Given the description of an element on the screen output the (x, y) to click on. 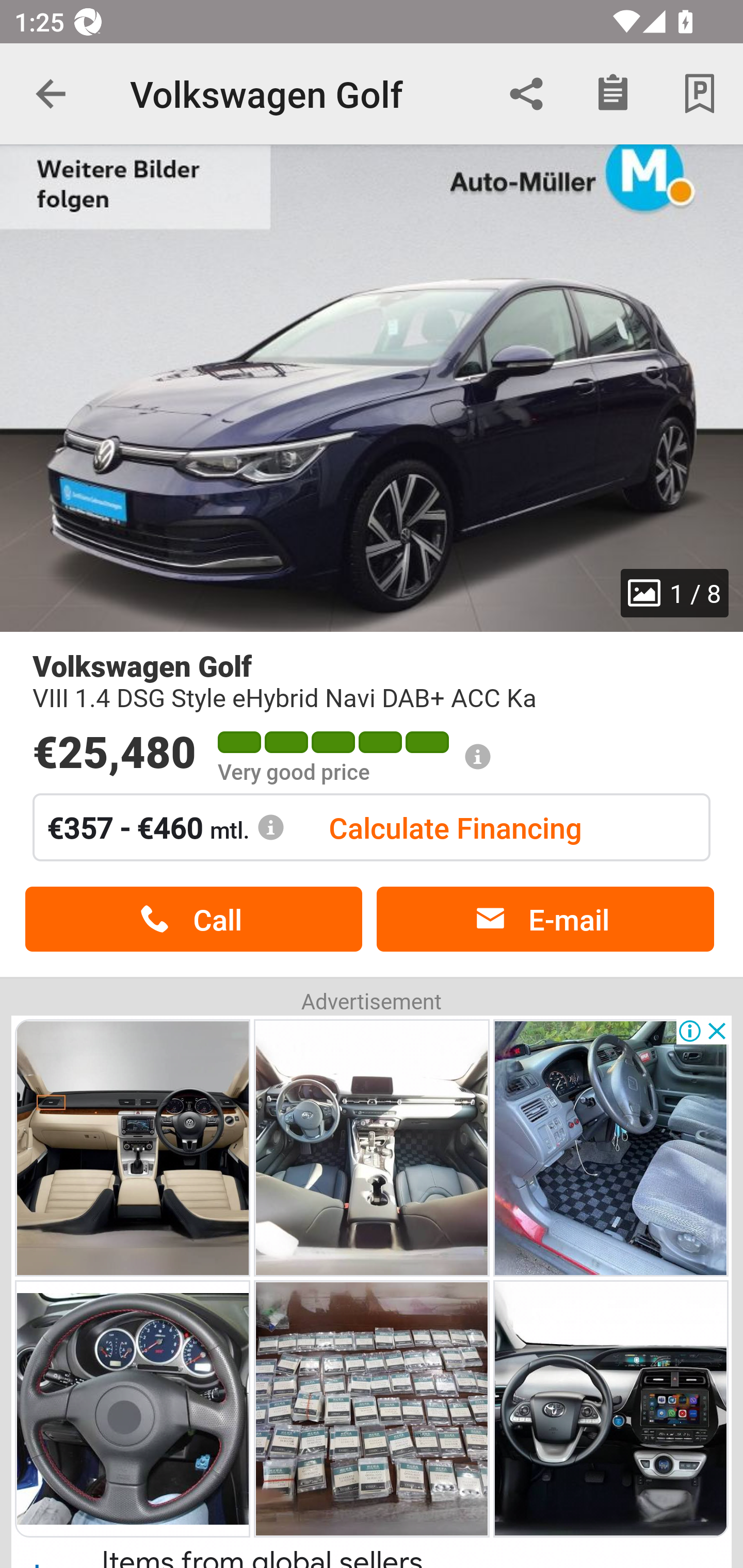
Navigate up (50, 93)
Share via (525, 93)
Checklist (612, 93)
Park (699, 93)
Calculate Financing (454, 826)
€357 - €460 mtl. (165, 826)
Call (193, 919)
E-mail (545, 919)
